Given the description of an element on the screen output the (x, y) to click on. 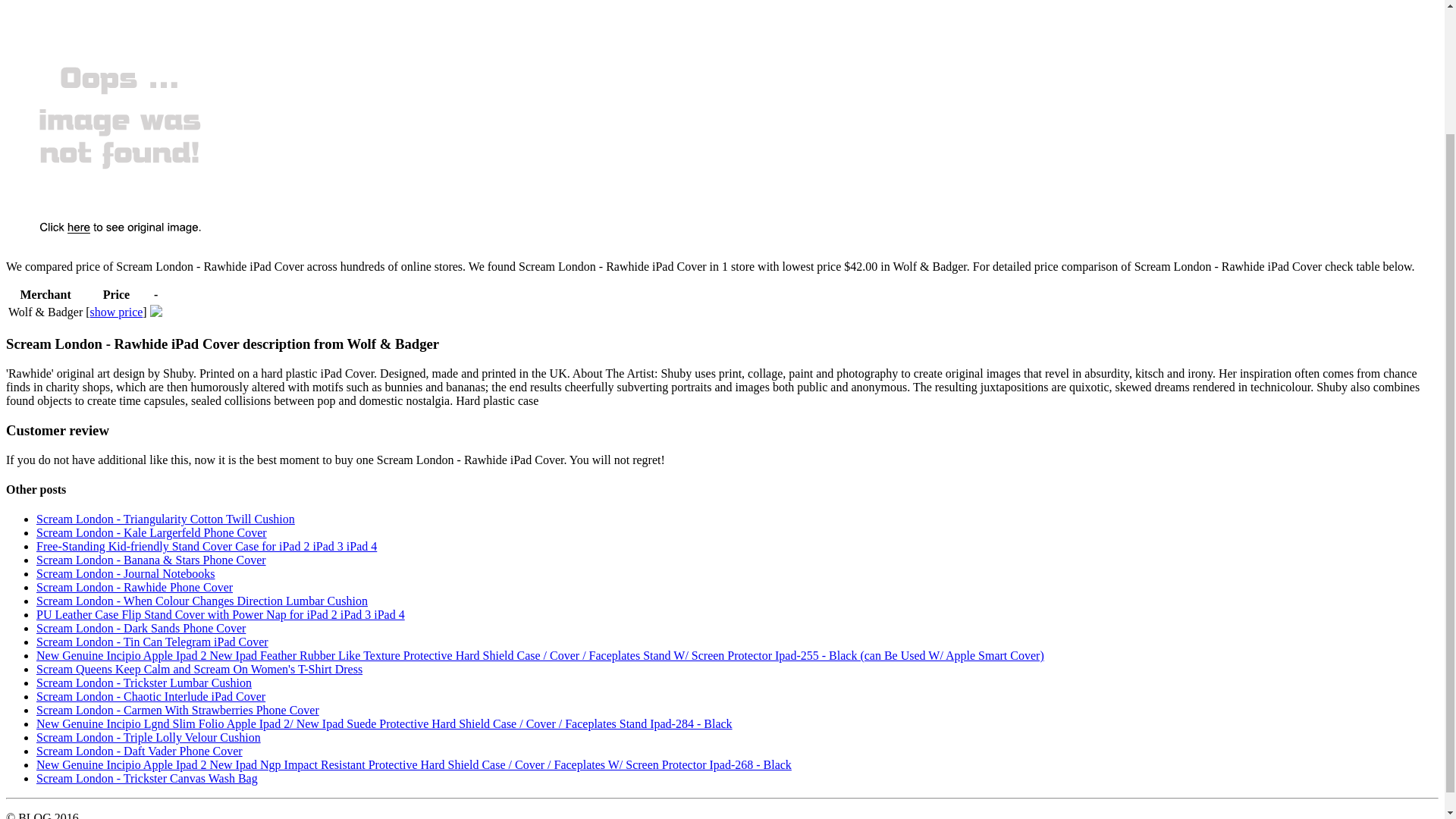
Scream Queens Keep Calm and Scream On Women's T-Shirt Dress (199, 668)
Scream London - Journal Notebooks (125, 573)
Scream London - Rawhide Phone Cover (134, 586)
Scream London - Trickster Canvas Wash Bag (146, 778)
show price (116, 311)
Scream London - Rawhide Phone Cover (134, 586)
Scream London - Trickster Lumbar Cushion (143, 682)
Scream London - Kale Largerfeld Phone Cover (151, 532)
Scream London - Kale Largerfeld Phone Cover (151, 532)
Scream London - Tin Can Telegram iPad Cover (151, 641)
Scream London - Triple Lolly Velour Cushion (148, 737)
Scream London - Triangularity Cotton Twill Cushion (165, 518)
